Given the description of an element on the screen output the (x, y) to click on. 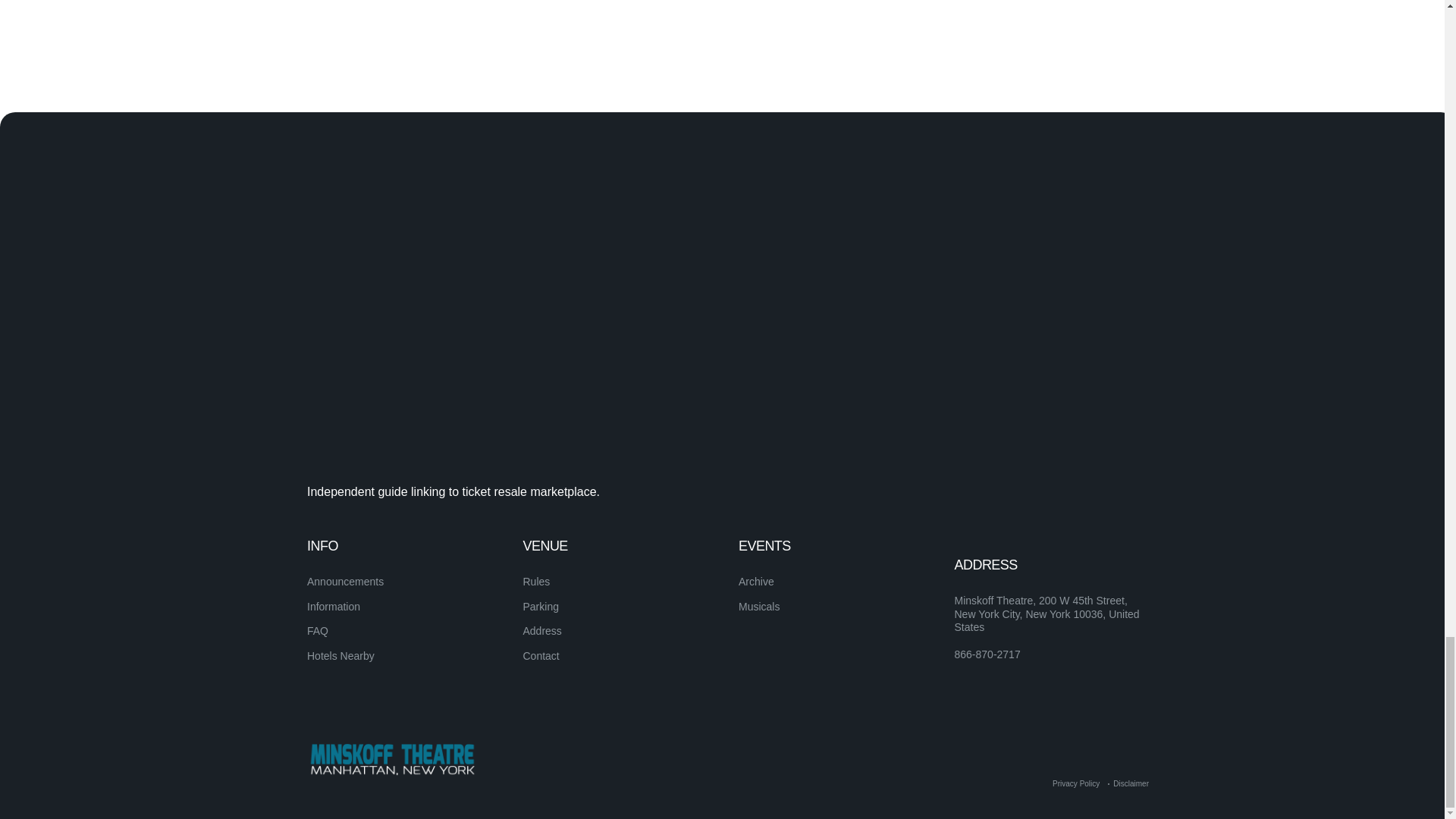
866-870-2717 (986, 654)
SUBSCRIBE (1095, 574)
Disclaimer (1130, 783)
Rules (536, 581)
Announcements (345, 581)
Hotels Nearby (340, 655)
Parking (540, 606)
Archive (756, 581)
FAQ (318, 630)
Musicals (758, 606)
